Given the description of an element on the screen output the (x, y) to click on. 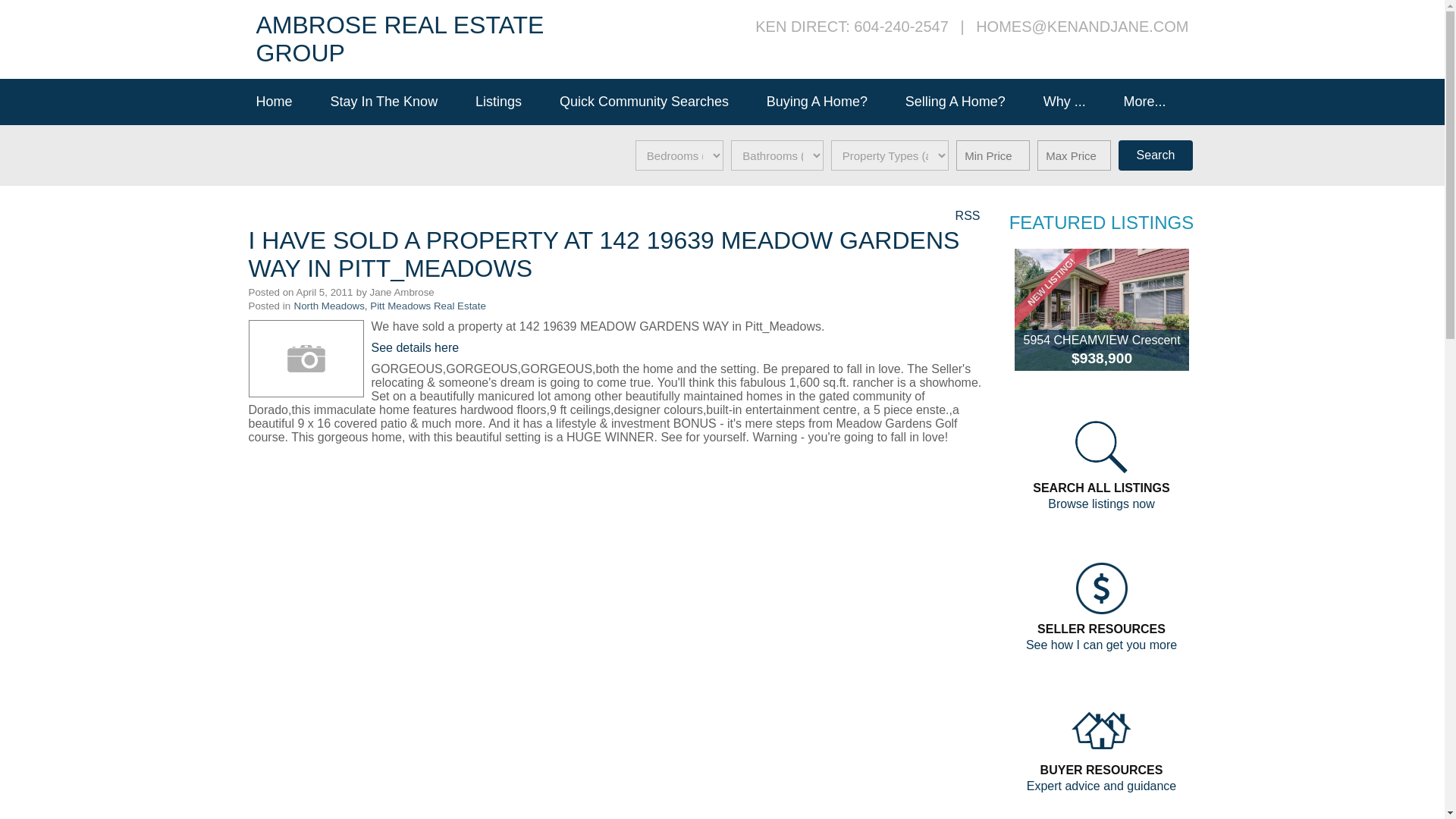
Expert advice and guidance (1101, 785)
Selling A Home? (966, 101)
Stay In The Know (394, 101)
Quick Community Searches (654, 101)
Browse listings now (1101, 503)
Why ... (1075, 101)
See how I can get you more (1101, 644)
Listings (509, 101)
Buying A Home? (828, 101)
Search (1155, 155)
Home (285, 101)
More... (1156, 101)
